Given the description of an element on the screen output the (x, y) to click on. 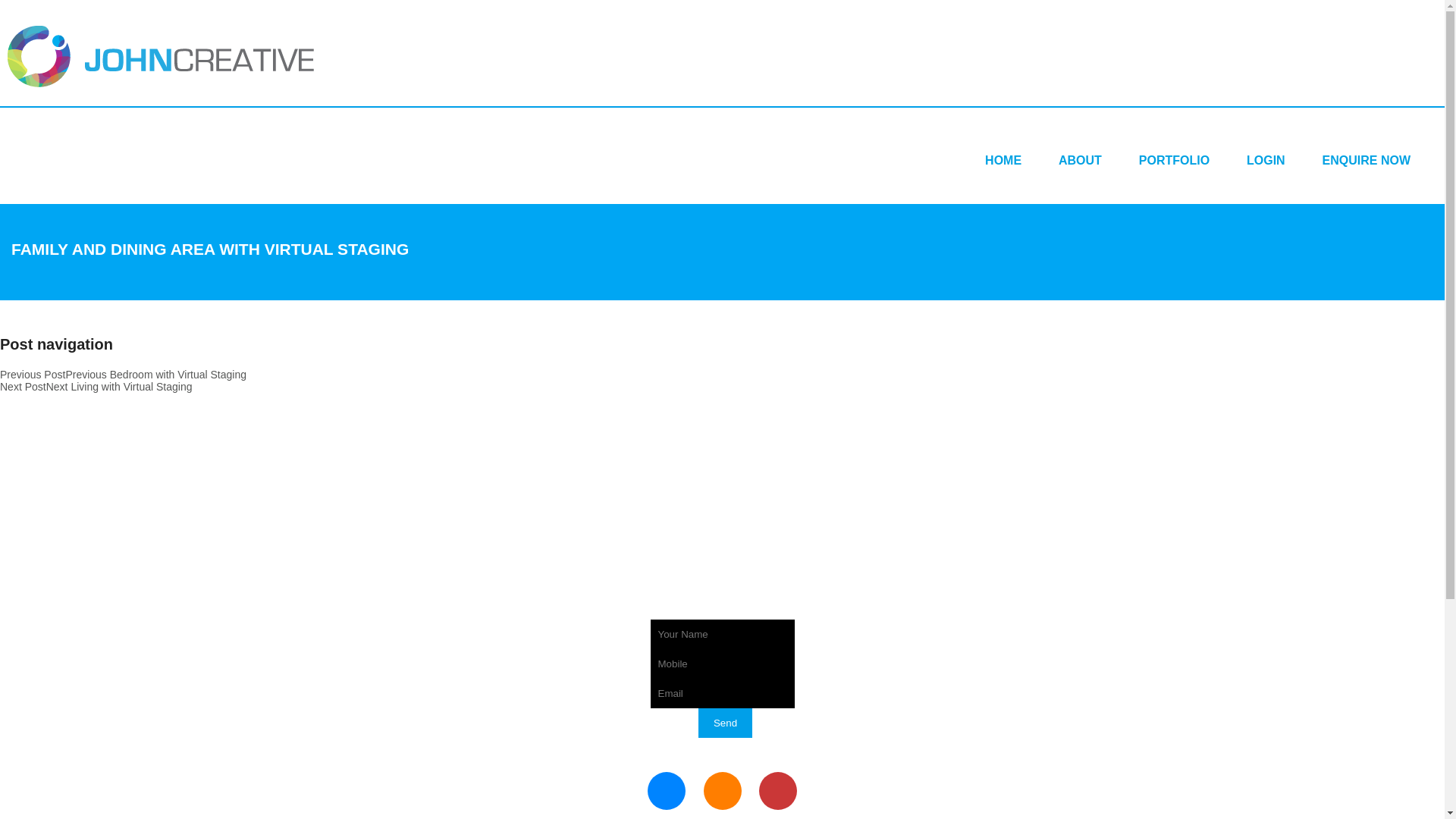
LOGIN Element type: text (1265, 159)
Previous PostPrevious Bedroom with Virtual Staging Element type: text (123, 374)
Johncreative Element type: hover (160, 56)
HOME Element type: text (1003, 159)
PORTFOLIO Element type: text (1174, 159)
ABOUT Element type: text (1079, 159)
Next PostNext Living with Virtual Staging Element type: text (95, 386)
Send Element type: text (725, 722)
ENQUIRE NOW Element type: text (1366, 159)
